Given the description of an element on the screen output the (x, y) to click on. 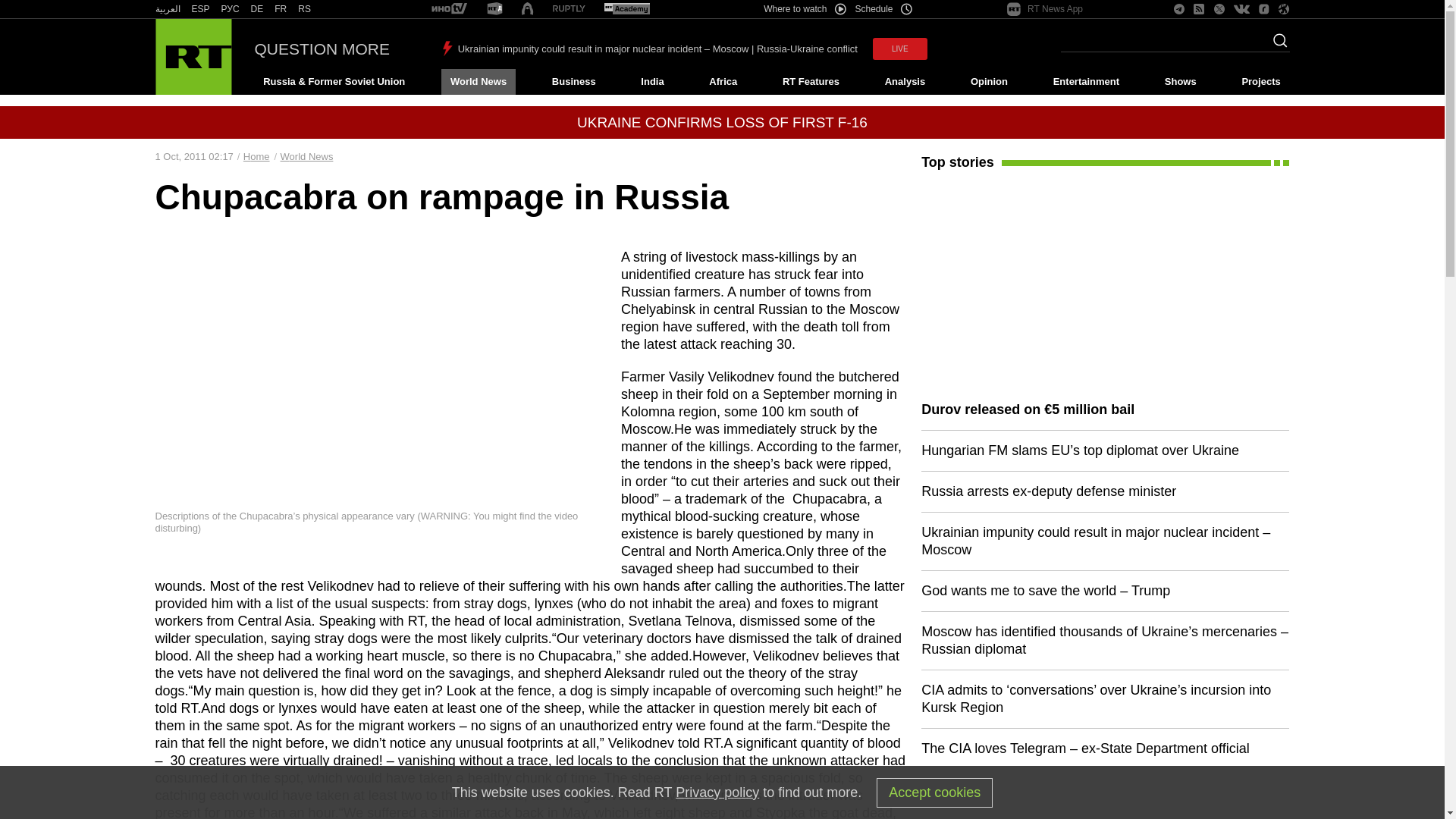
RT  (199, 9)
QUESTION MORE (322, 48)
FR (280, 9)
Entertainment (1085, 81)
RS (304, 9)
RT News App (1045, 9)
RT  (626, 9)
RT  (494, 9)
RT  (230, 9)
Shows (1180, 81)
